Given the description of an element on the screen output the (x, y) to click on. 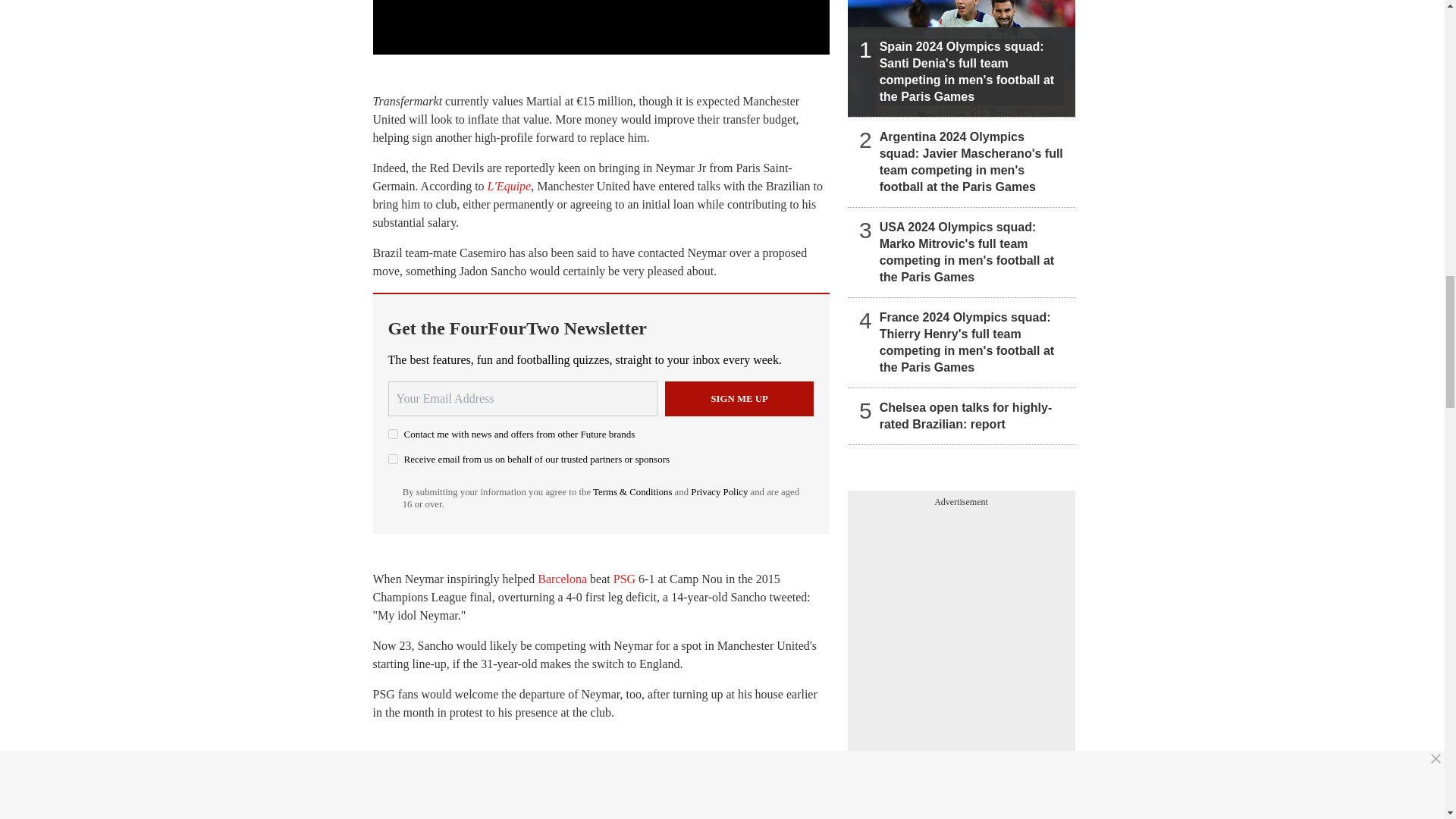
Sign me up (739, 398)
on (392, 459)
on (392, 433)
